Given the description of an element on the screen output the (x, y) to click on. 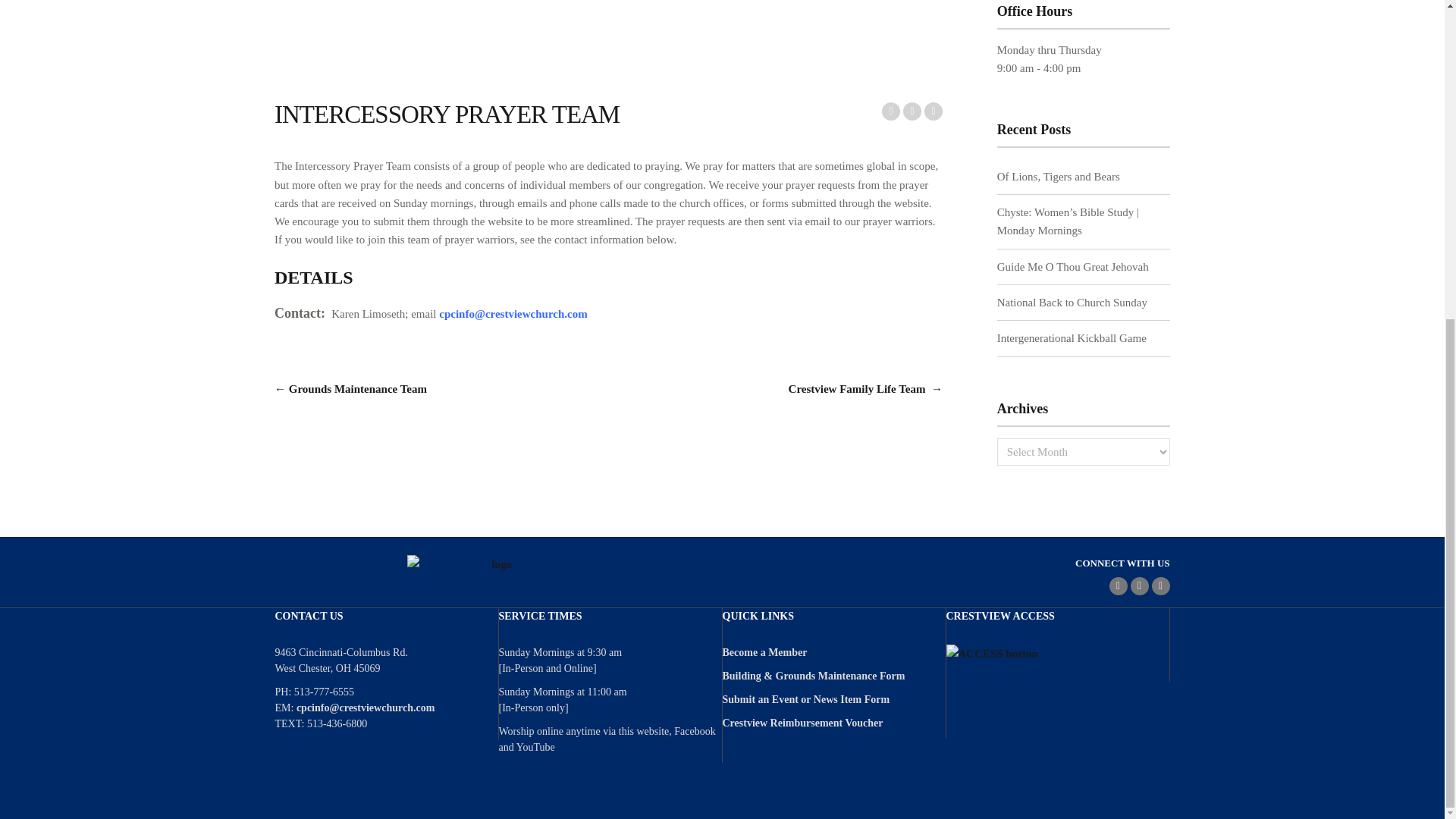
Facebook (1117, 586)
Youtube (1160, 586)
Instagram (1138, 586)
